Given the description of an element on the screen output the (x, y) to click on. 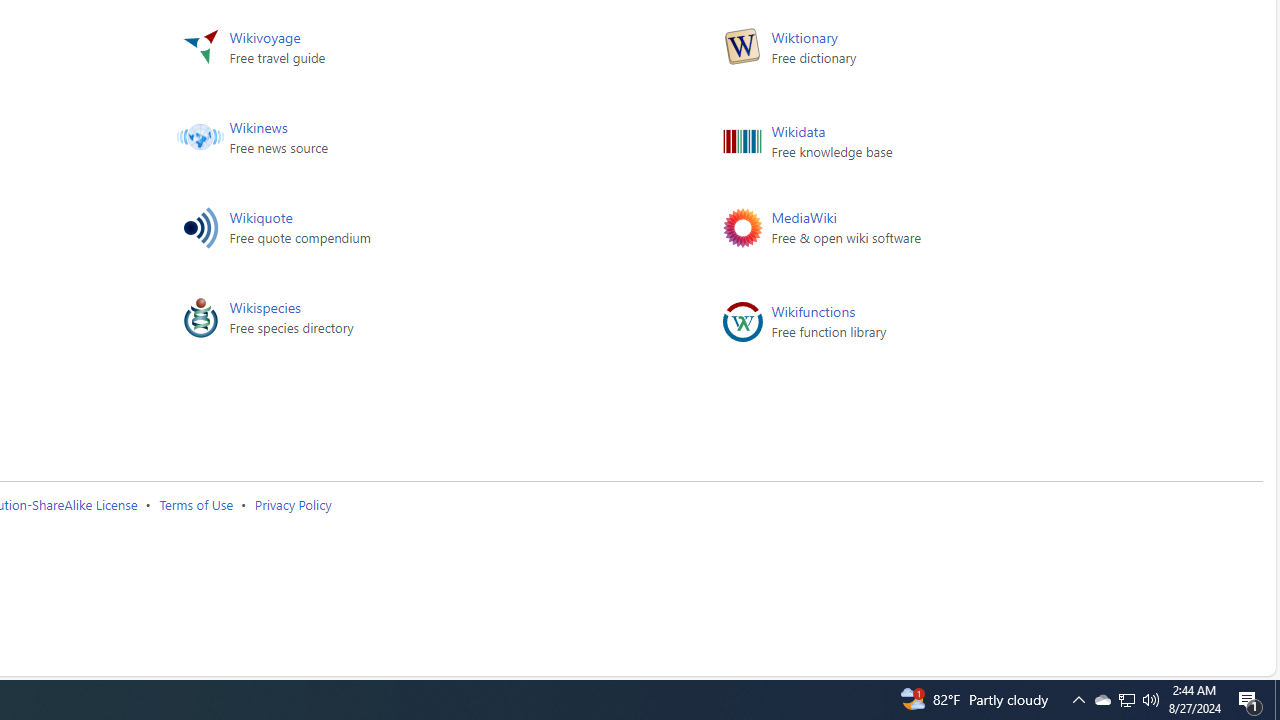
Privacy Policy (292, 503)
Wikivoyage Free travel guide (419, 51)
Wikifunctions Free function library (961, 321)
Wikiquote Free quote compendium (419, 231)
Wikinews Free news source (419, 141)
Wikispecies Free species directory (419, 321)
Wiktionary Free dictionary (961, 51)
Wikidata Free knowledge base (961, 141)
Terms of Use (196, 503)
MediaWiki Free & open wiki software (961, 231)
